Given the description of an element on the screen output the (x, y) to click on. 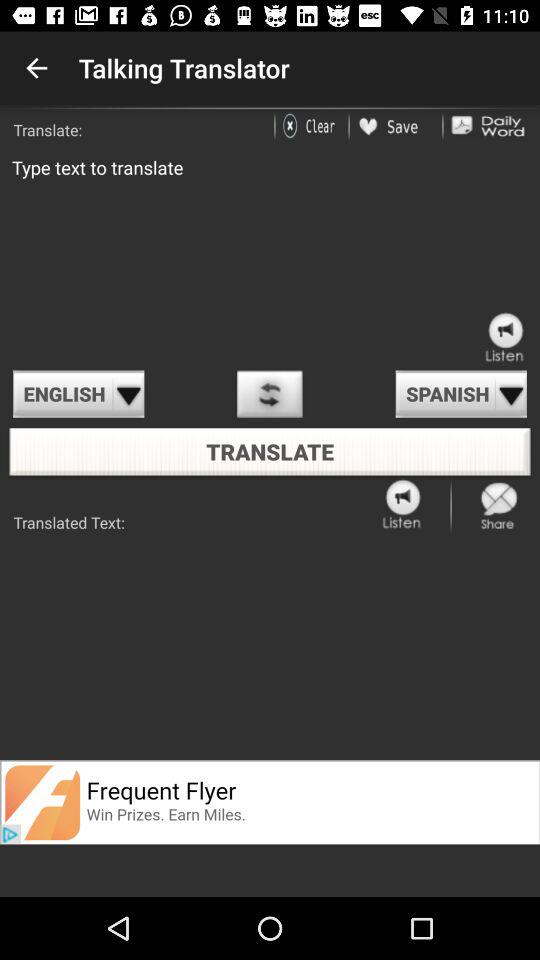
reverse translation (269, 393)
